Given the description of an element on the screen output the (x, y) to click on. 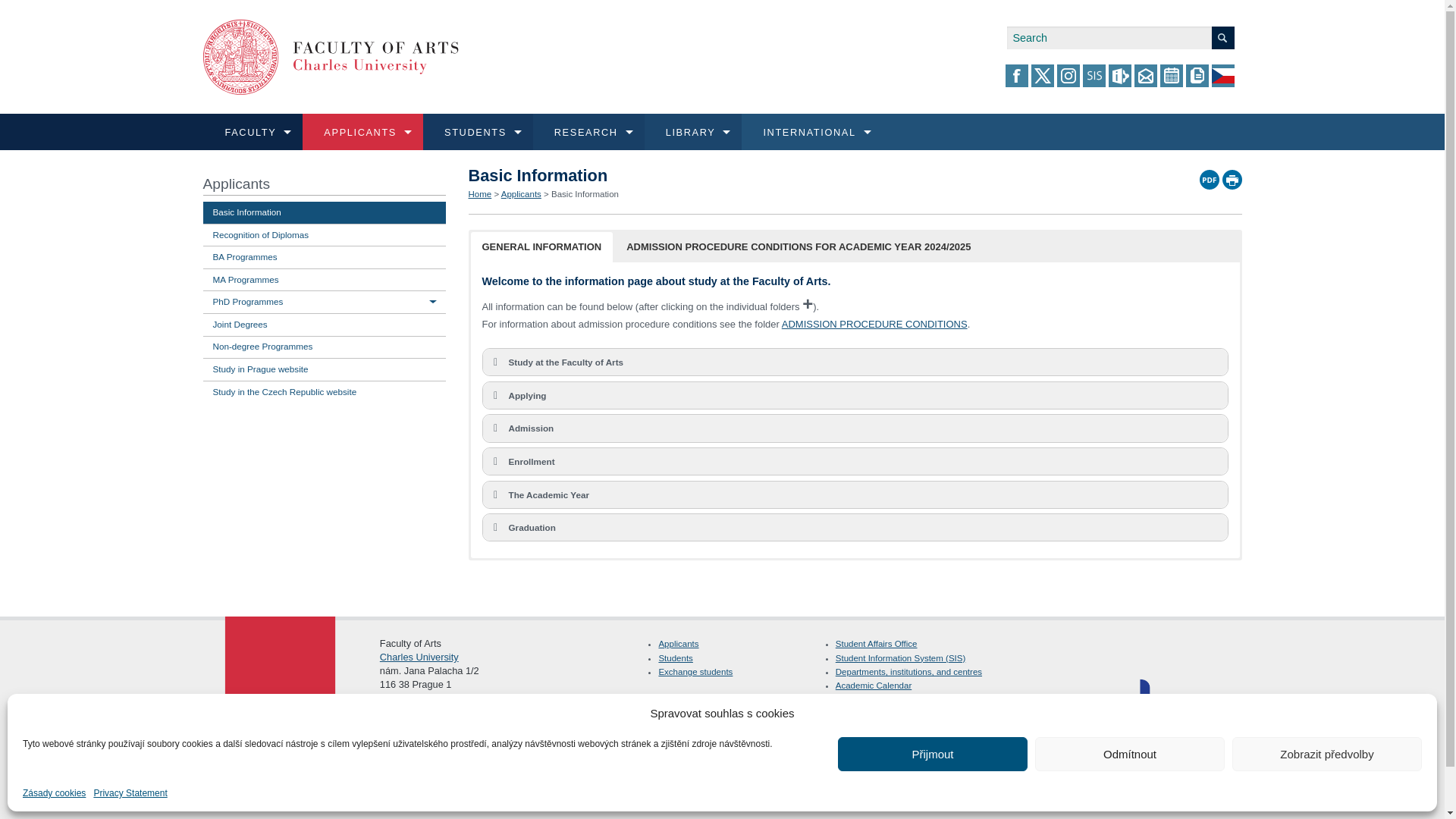
Support and Assistance for Students and Staff (671, 294)
Learn more (259, 213)
Non-degree Programmes (1047, 218)
FACULTY (247, 172)
Privacy Statement (130, 793)
Basic Information (671, 180)
E-shop (1047, 257)
Honorary Affiliations (1047, 180)
Rules and Regulations (671, 218)
APPLICANTS (362, 131)
For Media and Public (671, 257)
APPLICANTS (258, 172)
MA Programmes (671, 294)
Recognition of Diplomas (671, 218)
FACULTY (252, 131)
